Given the description of an element on the screen output the (x, y) to click on. 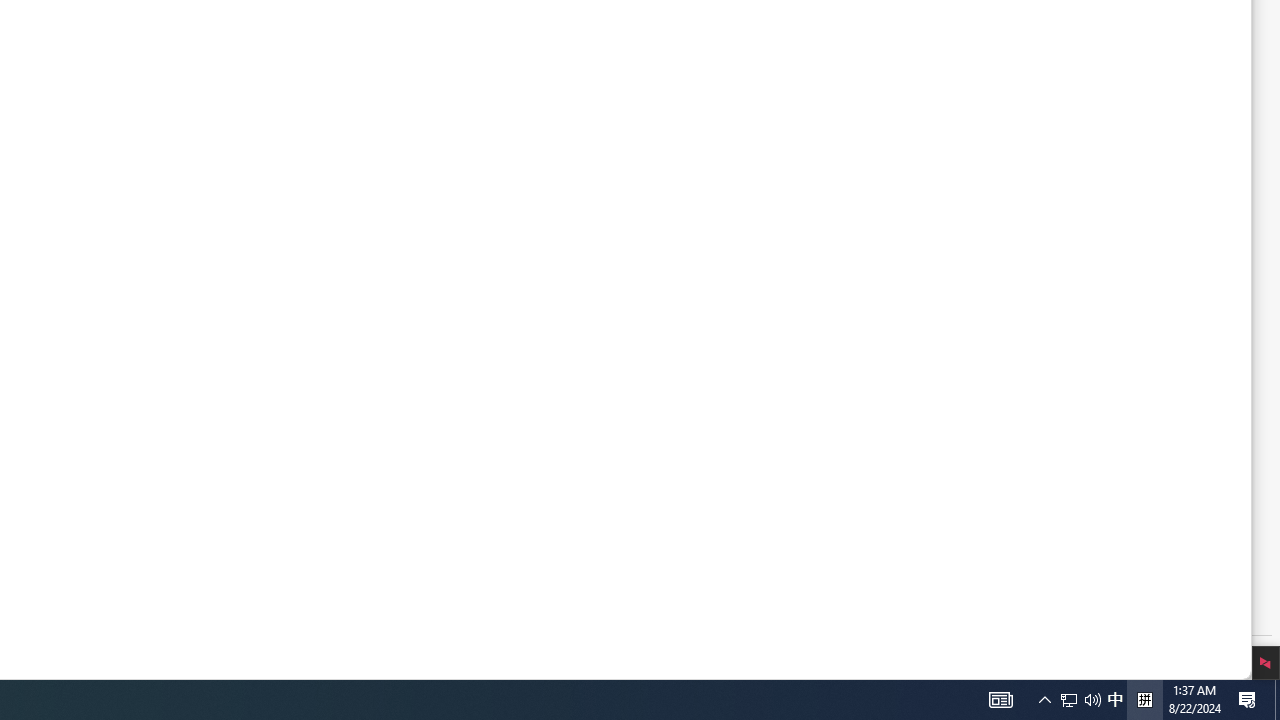
Community (449, 353)
Seller Information Center (483, 288)
Company info (230, 288)
News (230, 312)
Verified Rights Owner (VeRO) Program (228, 456)
Company info (161, 288)
About eBay (157, 263)
Advertise with us (230, 407)
